Given the description of an element on the screen output the (x, y) to click on. 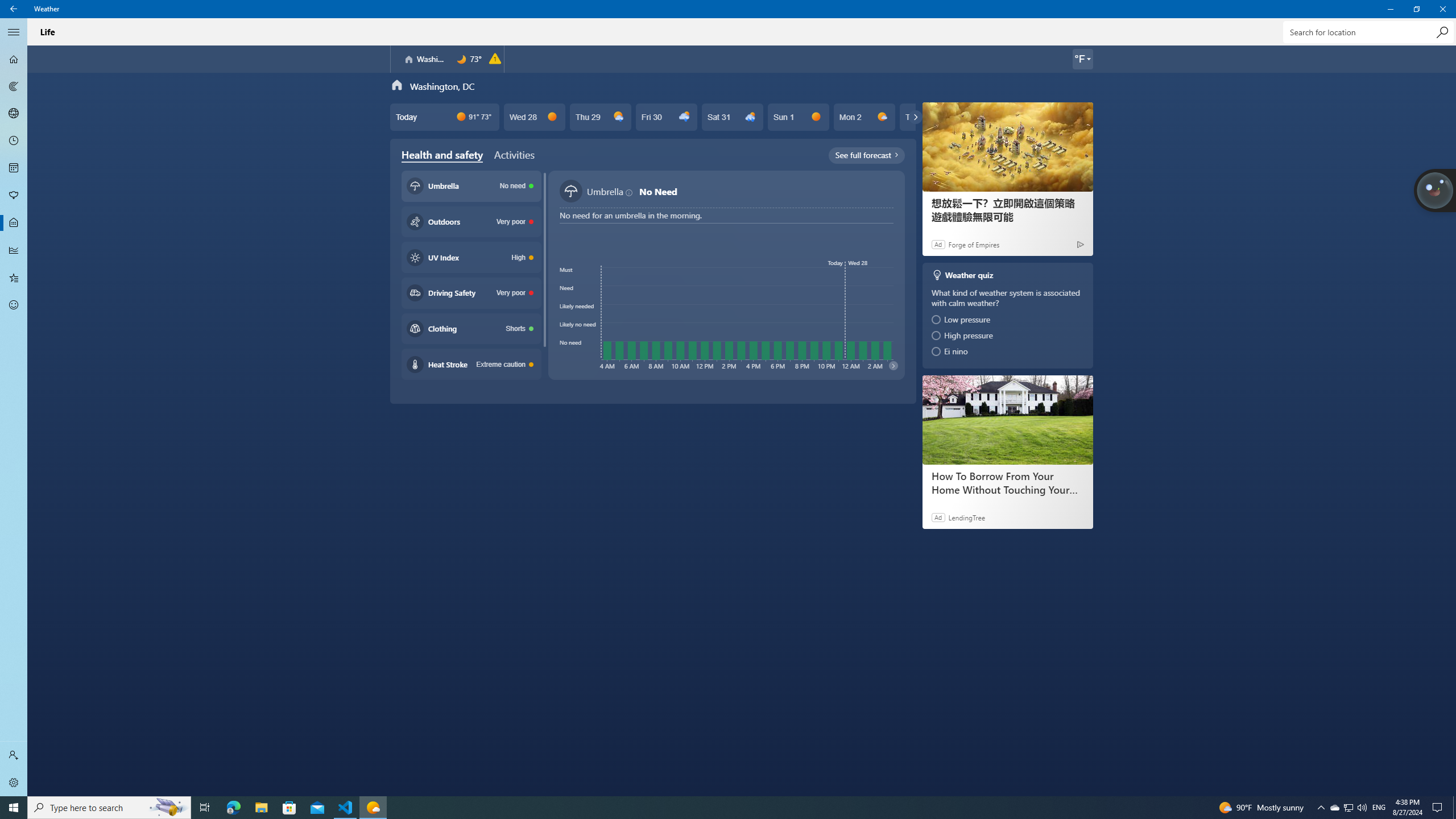
Sign in (13, 755)
Running applications (706, 807)
Hourly Forecast - Not Selected (13, 140)
Life - Not Selected (13, 222)
Send Feedback - Not Selected (13, 304)
Close Weather (1442, 9)
Pollen - Not Selected (13, 195)
Settings (13, 782)
Collapse Navigation (13, 31)
Weather - 1 running window (373, 807)
Send Feedback - Not Selected (13, 304)
